Given the description of an element on the screen output the (x, y) to click on. 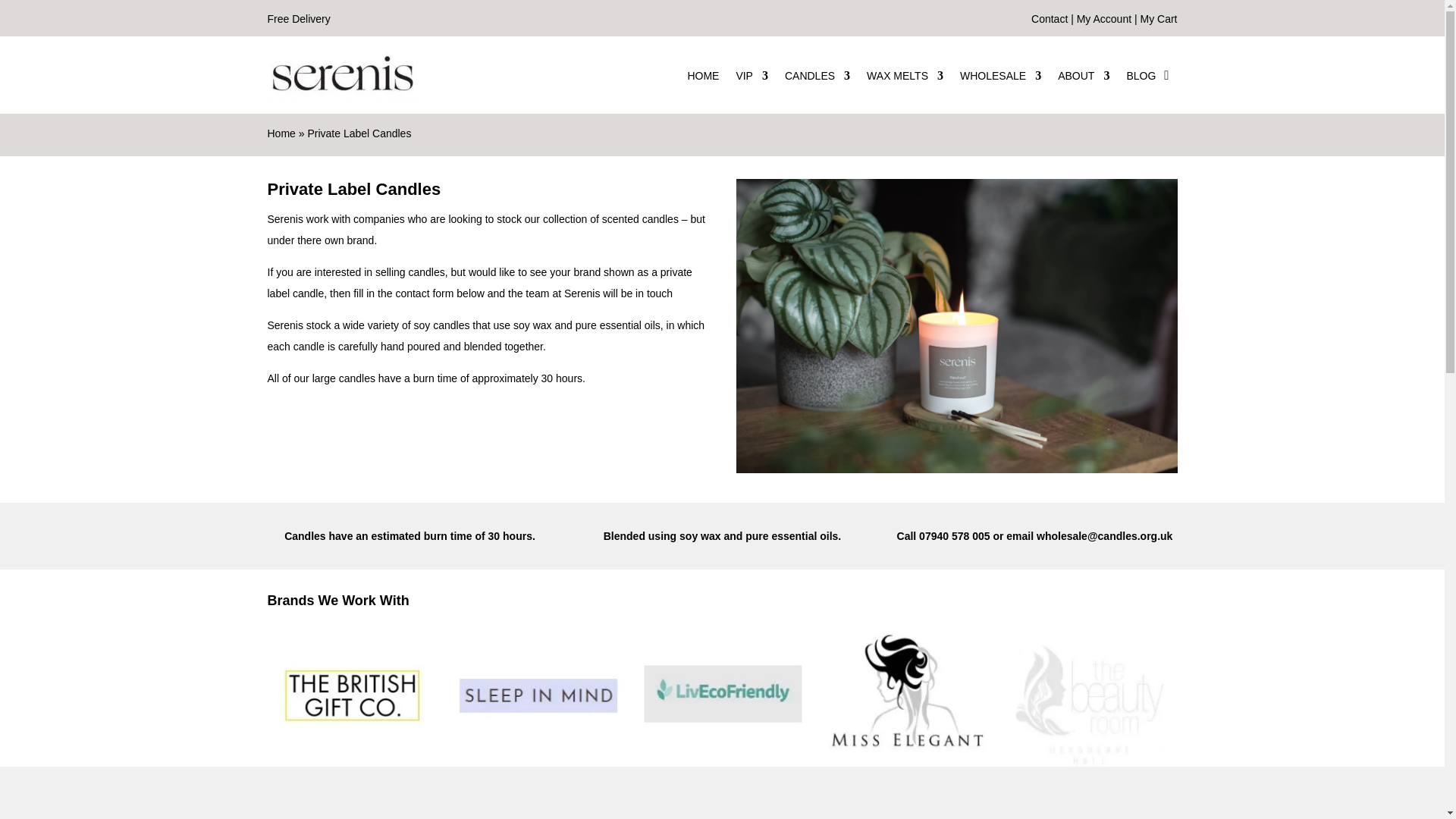
CANDLES (817, 75)
Patchouli 3 (955, 326)
Contact (1048, 19)
My Cart (1158, 19)
My Account (1104, 19)
